Given the description of an element on the screen output the (x, y) to click on. 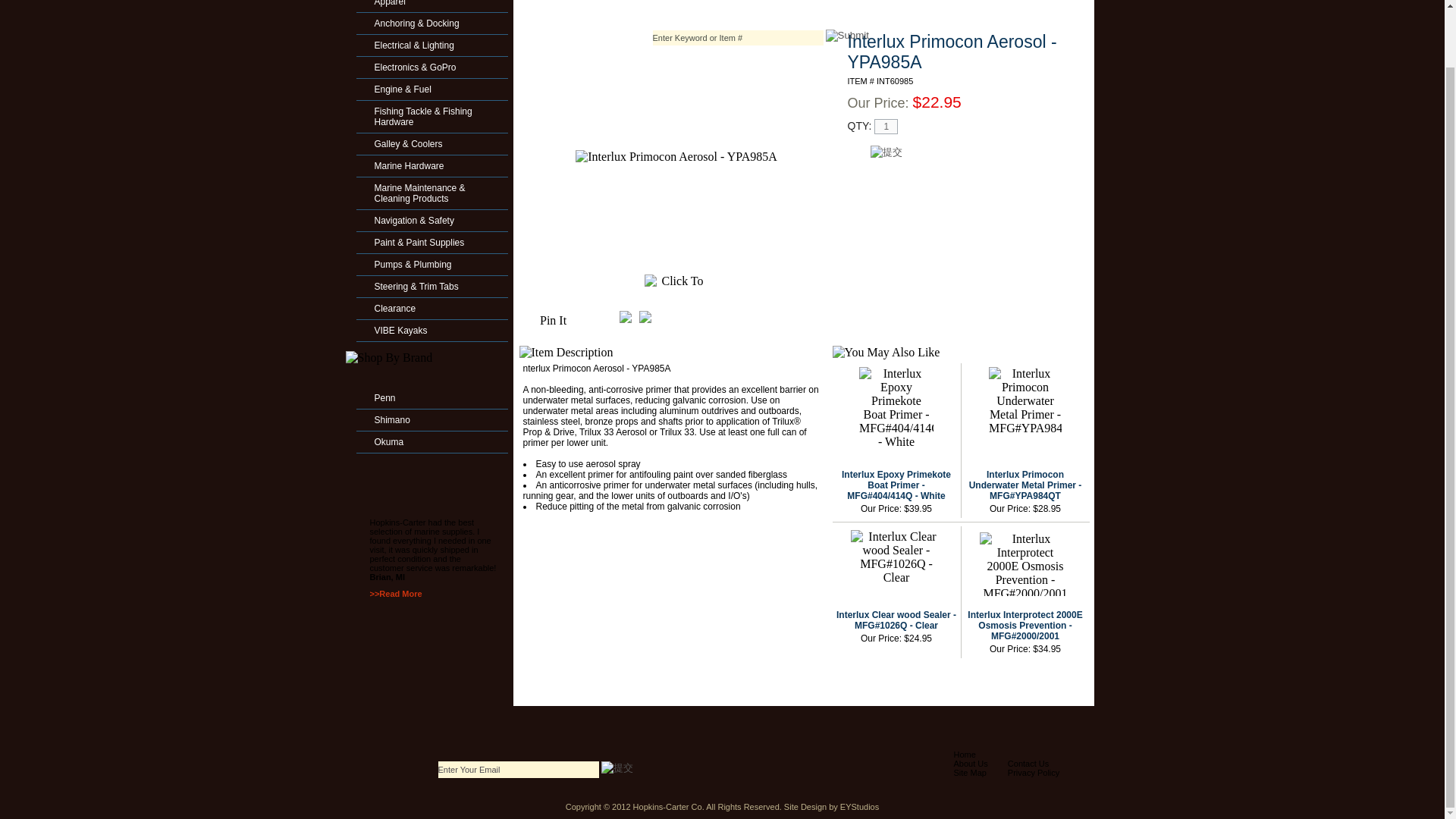
Item Description (565, 352)
Clearance (431, 308)
Search (846, 35)
Shop By Brand (389, 357)
Click To Enlarge (676, 280)
Okuma (431, 441)
Marine Hardware (431, 165)
Tweet (625, 318)
You May Also Like (886, 352)
Shimano (431, 419)
Search (846, 35)
Apparel (431, 3)
Interlux Primocon Aerosol - YPA985A  (675, 156)
VIBE Kayaks (431, 330)
Pin It (553, 319)
